Given the description of an element on the screen output the (x, y) to click on. 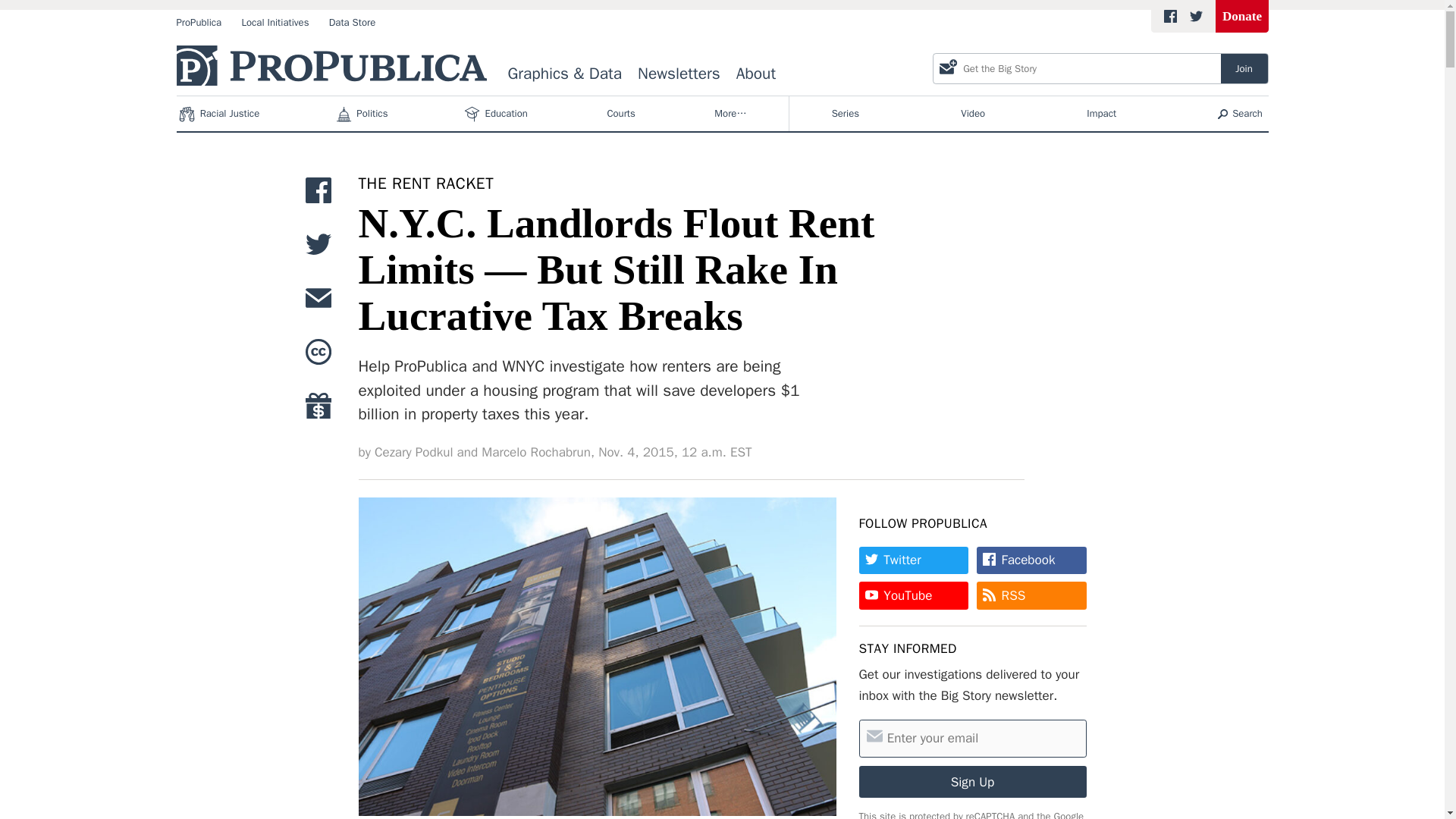
Rich Site Summary (1013, 595)
Data Store (352, 22)
Search (1240, 113)
Newsletters (679, 74)
Series (844, 113)
Politics (363, 113)
Local Initiatives (274, 22)
Sign Up (972, 781)
Courts (621, 113)
Racial Justice (220, 113)
ProPublica (198, 22)
Video (973, 113)
Marcelo Rochabrun (536, 452)
Republish our story (318, 355)
Impact (1101, 113)
